Given the description of an element on the screen output the (x, y) to click on. 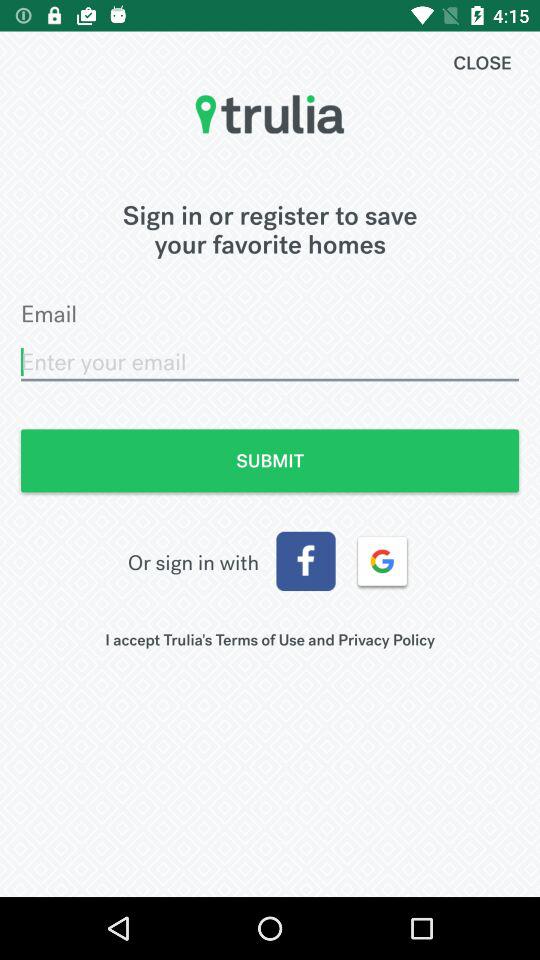
tap submit (270, 460)
